Given the description of an element on the screen output the (x, y) to click on. 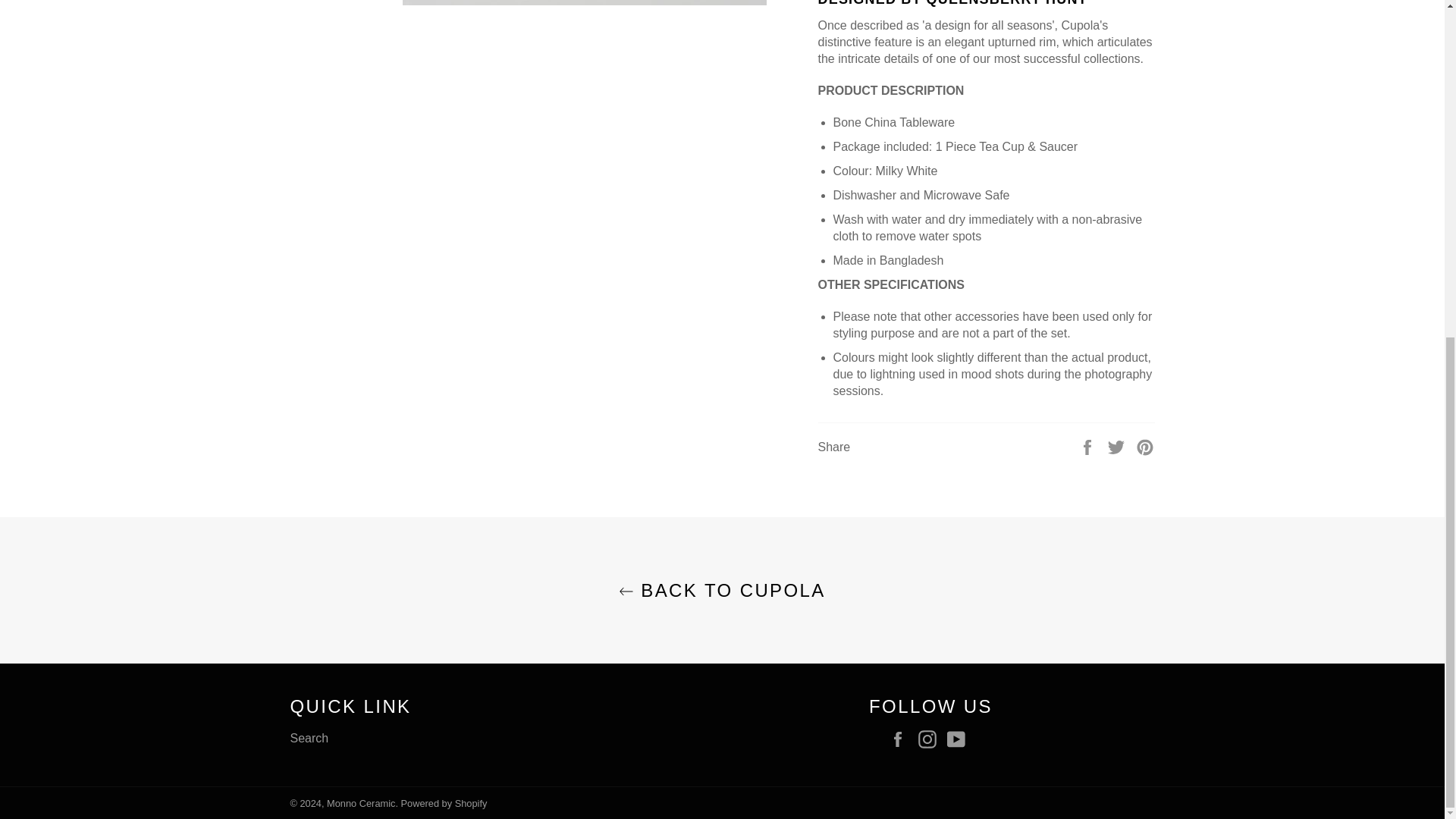
Monno Ceramic on Instagram (930, 739)
Monno Ceramic on Facebook (901, 739)
Pin on Pinterest (1144, 445)
Share on Facebook (1088, 445)
Tweet on Twitter (1117, 445)
Monno Ceramic on YouTube (959, 739)
